Given the description of an element on the screen output the (x, y) to click on. 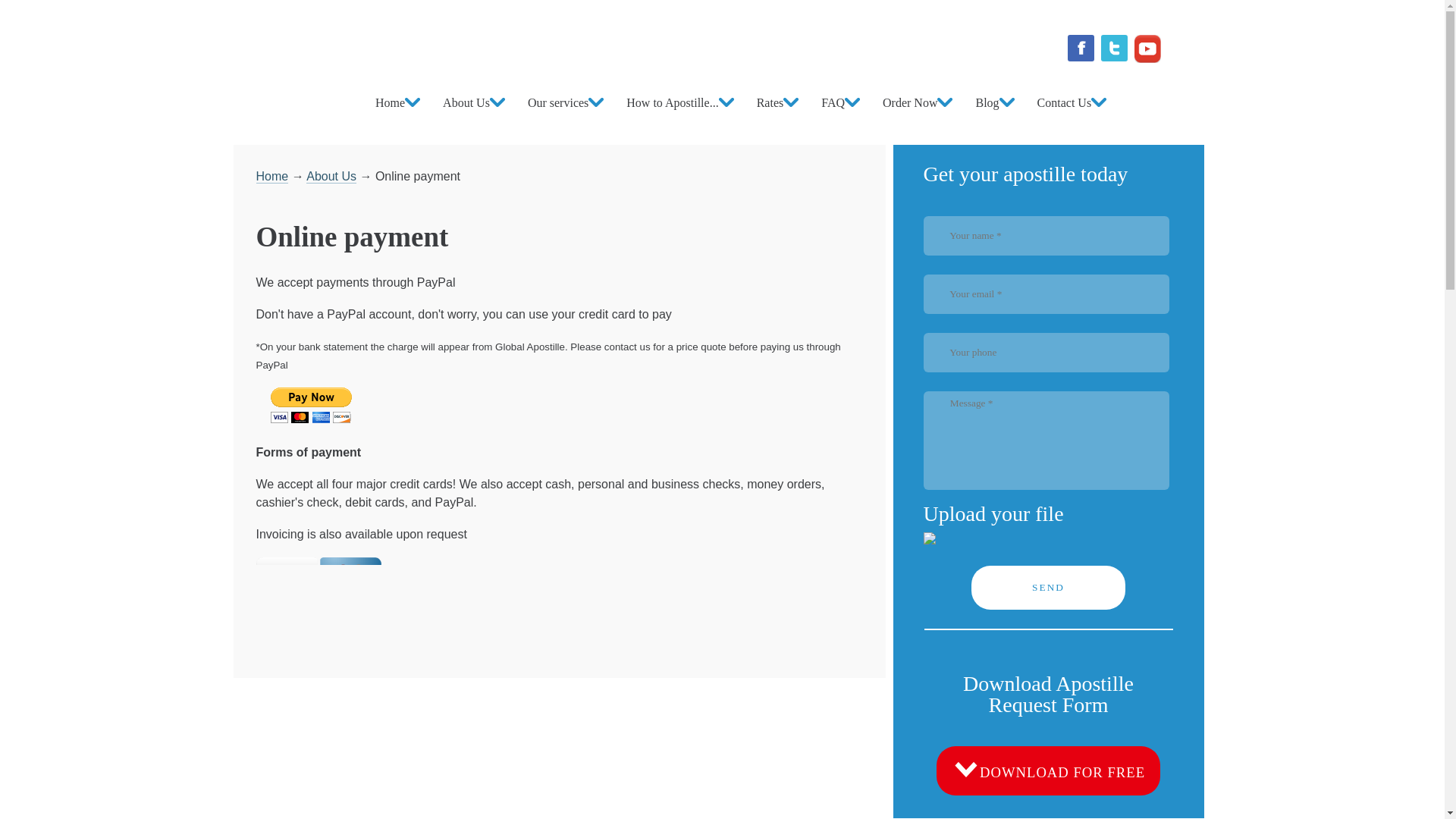
Order Now (468, 32)
DOWNLOAD FOR FREE (916, 102)
Rates (1048, 772)
Home (777, 102)
About Us (272, 176)
Home (330, 176)
Contact Us (397, 102)
About Us (1072, 102)
866-416-0747 (473, 102)
